Given the description of an element on the screen output the (x, y) to click on. 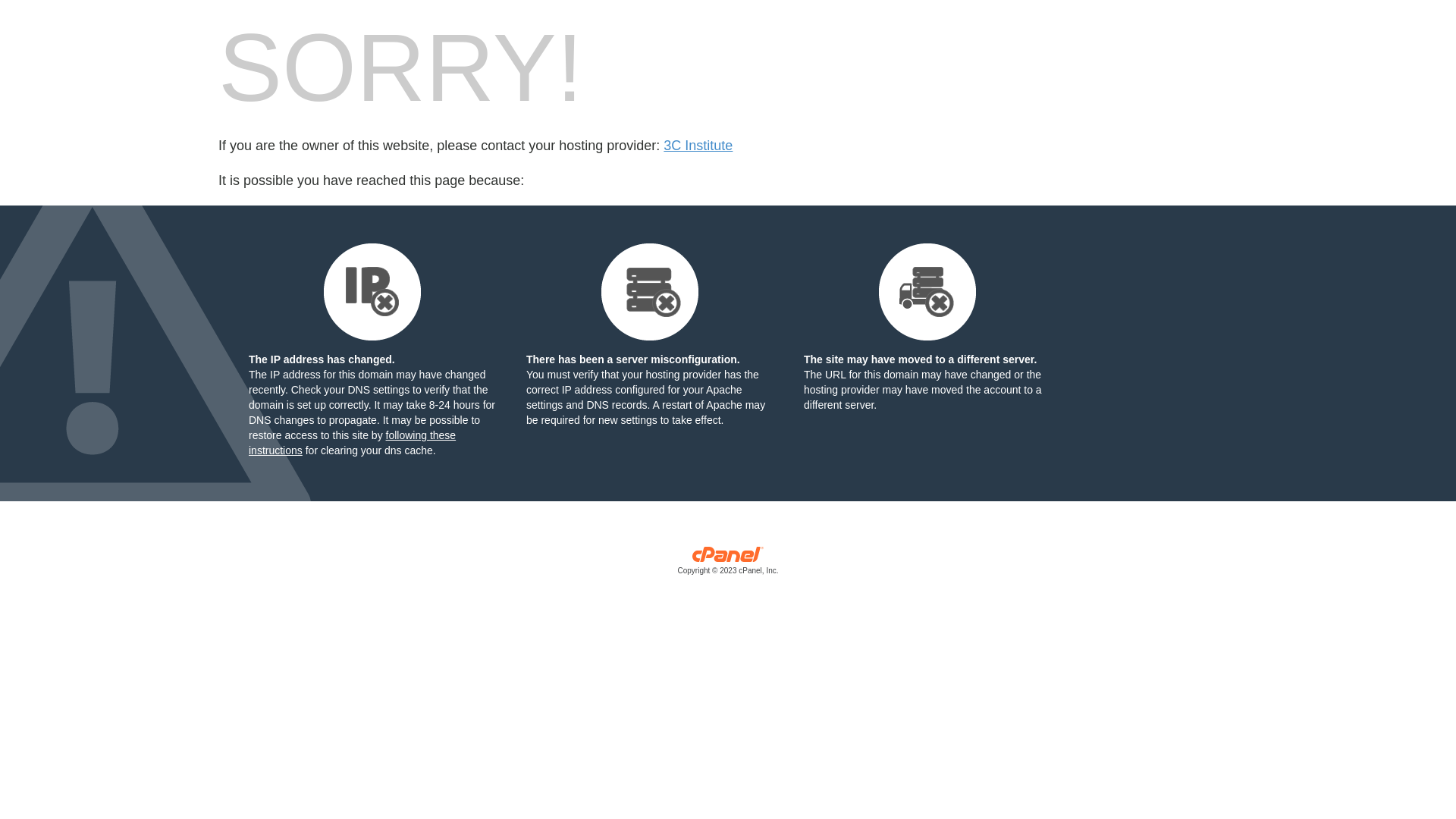
following these instructions Element type: text (351, 442)
3C Institute Element type: text (697, 145)
